Given the description of an element on the screen output the (x, y) to click on. 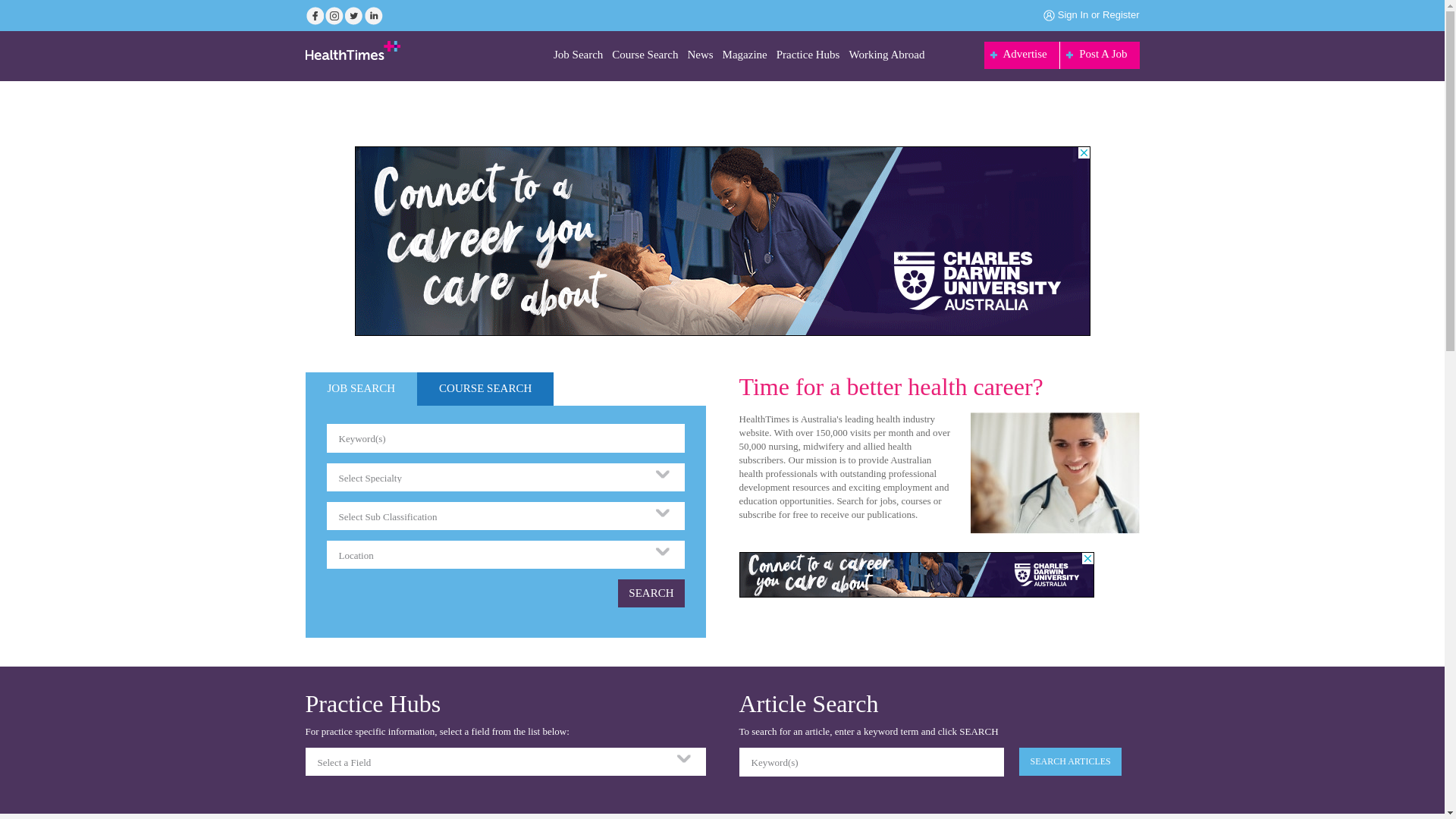
News Element type: text (699, 56)
SEARCH ARTICLES Element type: text (1069, 761)
3rd party ad content Element type: hover (722, 240)
Course Search Element type: text (644, 56)
JOB SEARCH Element type: text (360, 388)
Register Element type: text (1120, 14)
Working Abroad Element type: text (886, 56)
COURSE SEARCH Element type: text (485, 388)
Magazine Element type: text (744, 56)
Advertise Element type: text (1022, 55)
linkedin Element type: text (373, 15)
facebook Element type: text (313, 15)
instagram Element type: text (333, 15)
industry professionals Element type: hover (1054, 472)
Post A Job Element type: text (1099, 55)
Sign In Element type: text (1072, 14)
Job Search Element type: text (578, 56)
twitter Element type: text (353, 15)
3rd party ad content Element type: hover (915, 574)
Practice Hubs Element type: text (807, 56)
